Given the description of an element on the screen output the (x, y) to click on. 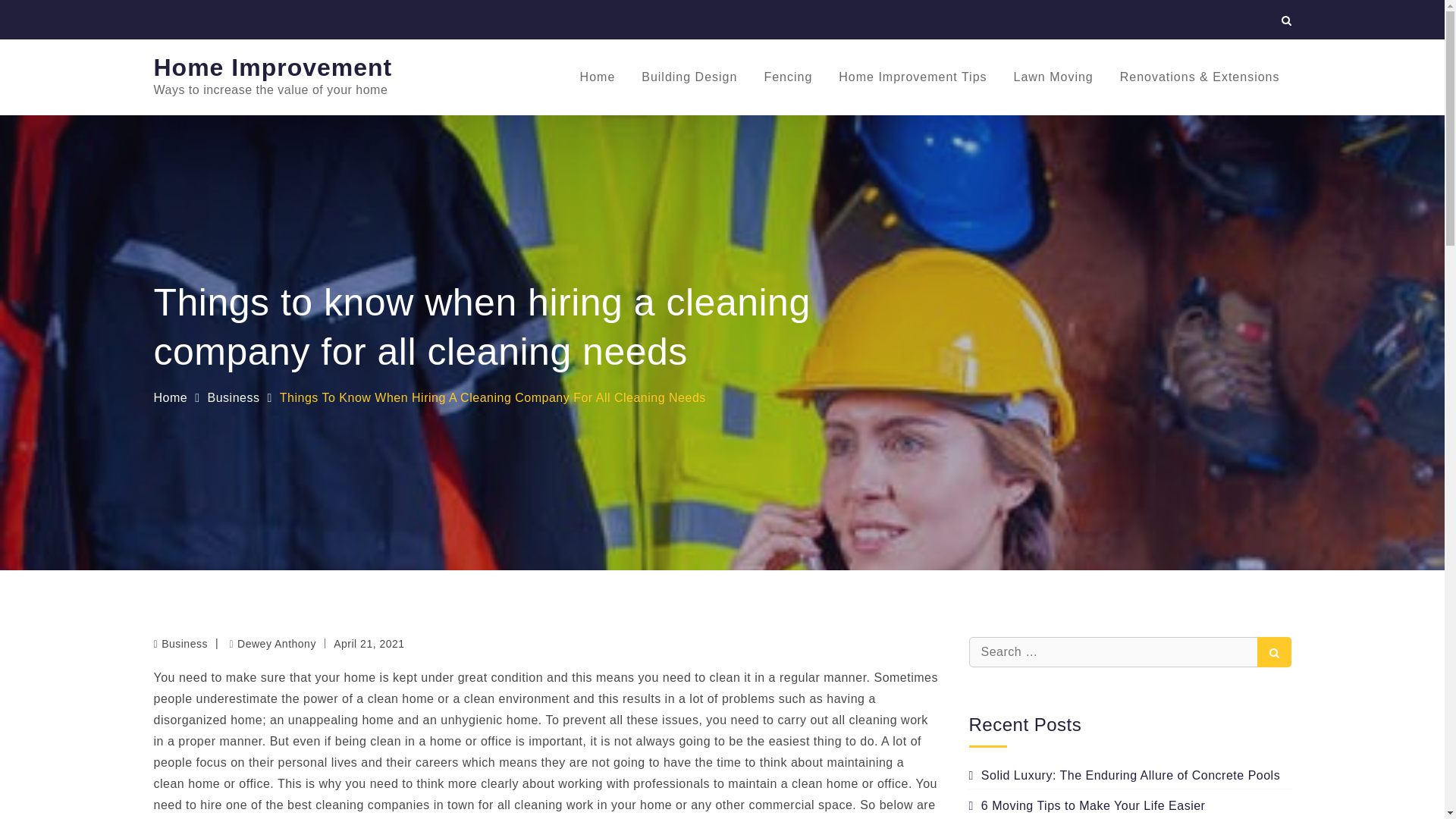
Home (169, 397)
Lawn Moving (1052, 77)
Home Improvement Tips (912, 77)
Search (1274, 652)
Dewey Anthony (271, 644)
Home (598, 77)
April 21, 2021 (368, 643)
Fencing (788, 77)
6 Moving Tips to Make Your Life Easier (1087, 805)
Home Improvement (271, 67)
Solid Luxury: The Enduring Allure of Concrete Pools (1125, 775)
Business (184, 644)
Business (234, 397)
Building Design (689, 77)
